Given the description of an element on the screen output the (x, y) to click on. 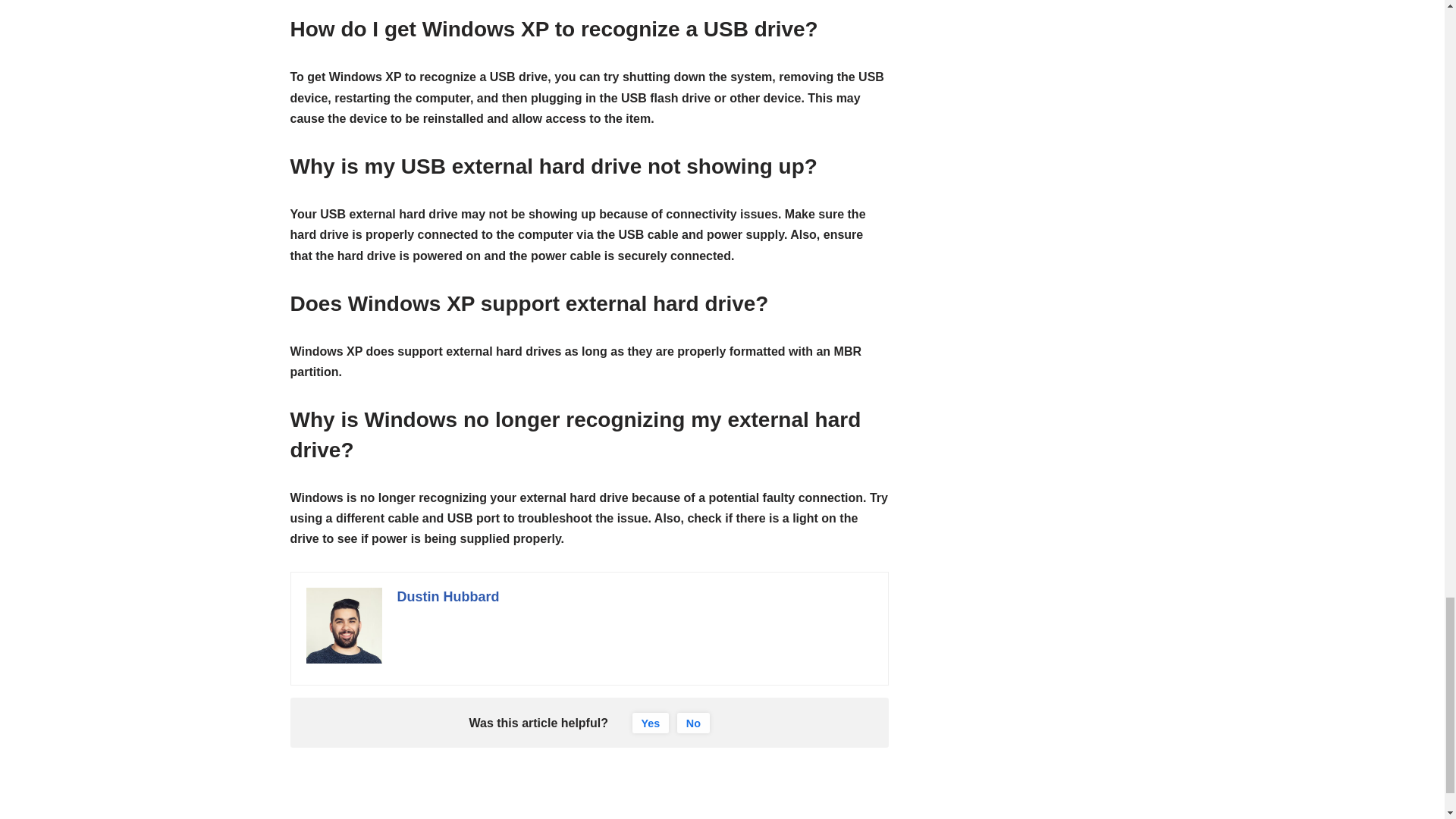
Dustin Hubbard (448, 596)
